Given the description of an element on the screen output the (x, y) to click on. 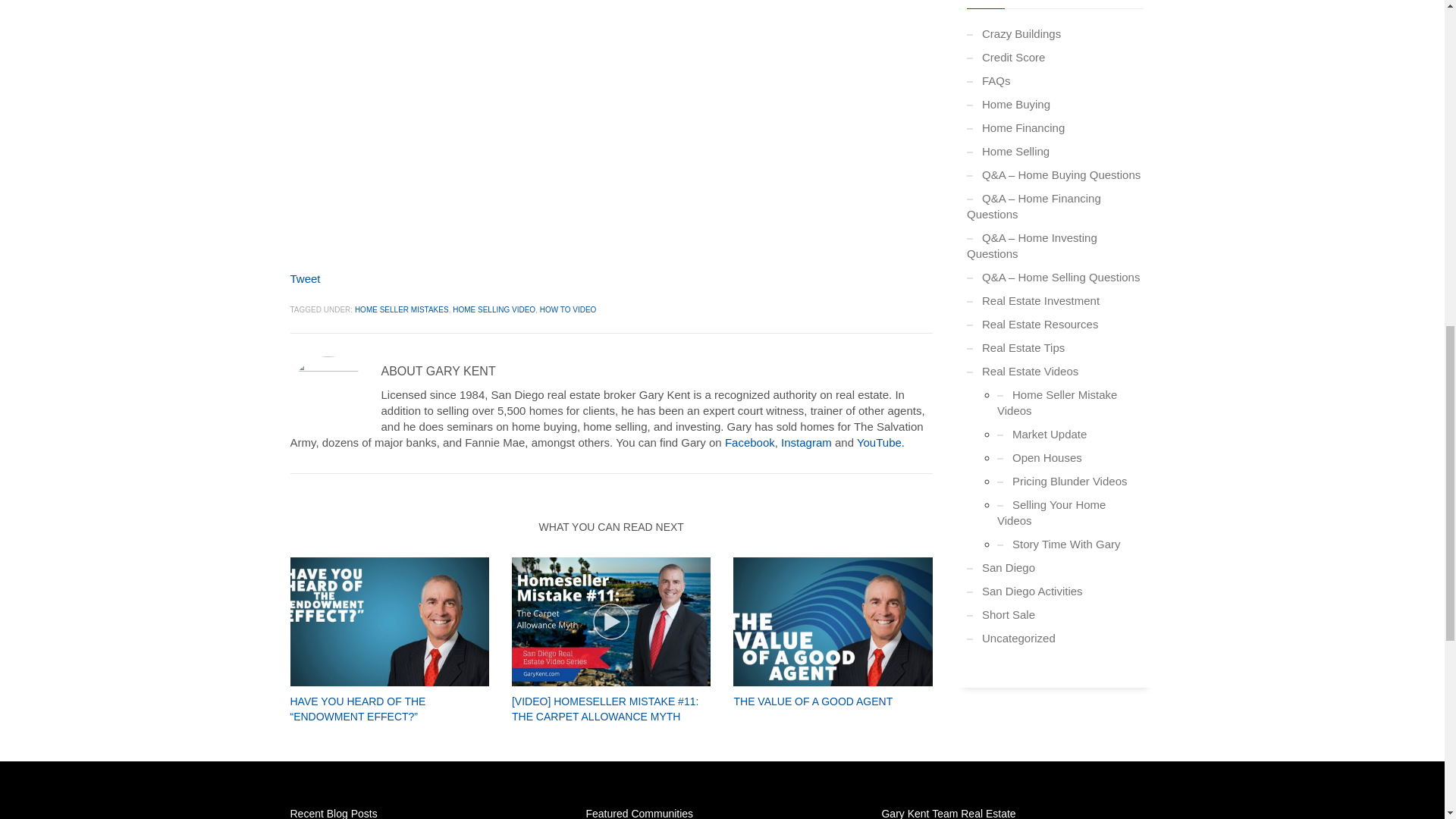
GaryKentFI1.24 (832, 621)
garyfi18 (388, 621)
